Given the description of an element on the screen output the (x, y) to click on. 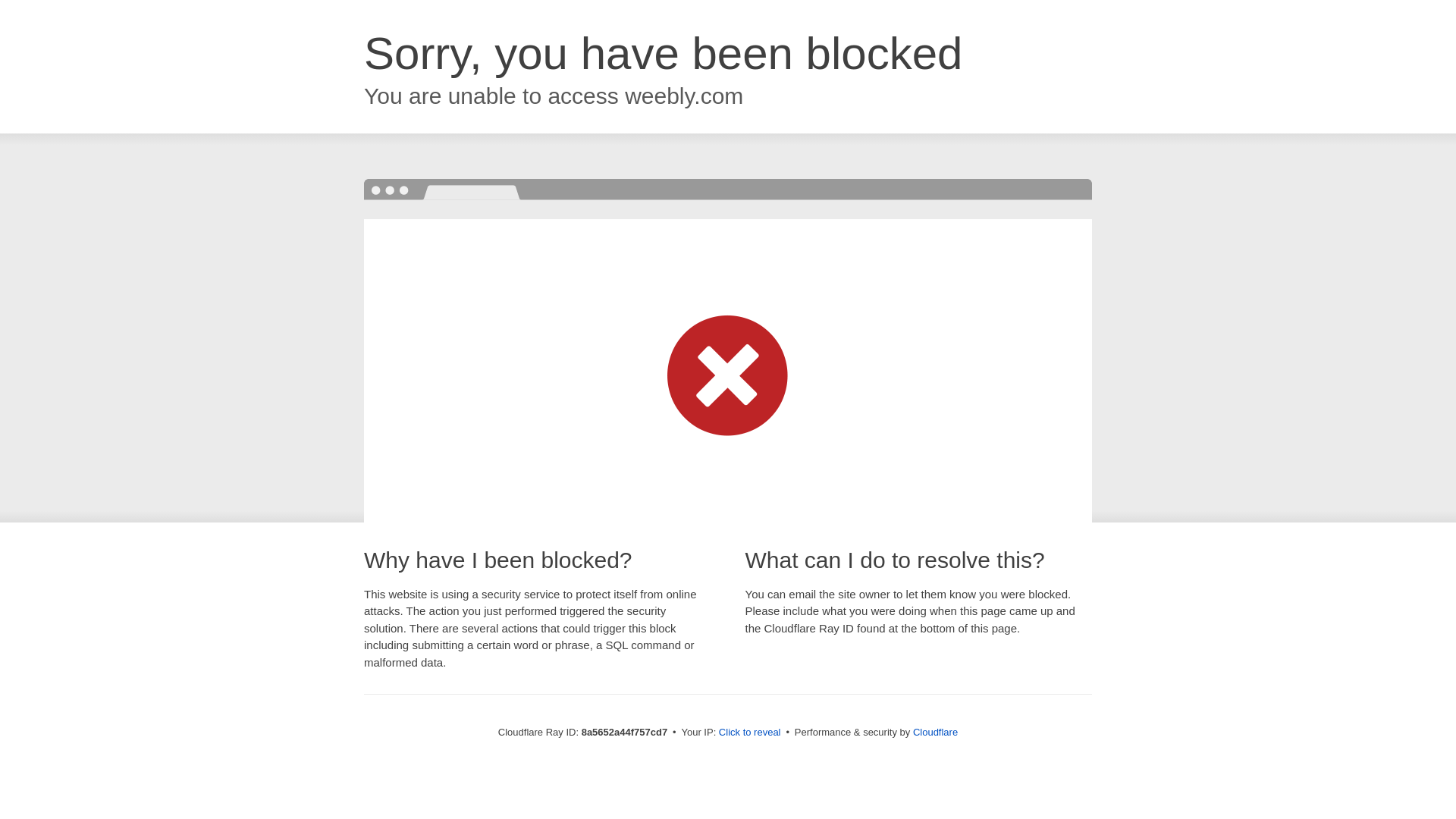
Click to reveal (749, 732)
Cloudflare (935, 731)
